Given the description of an element on the screen output the (x, y) to click on. 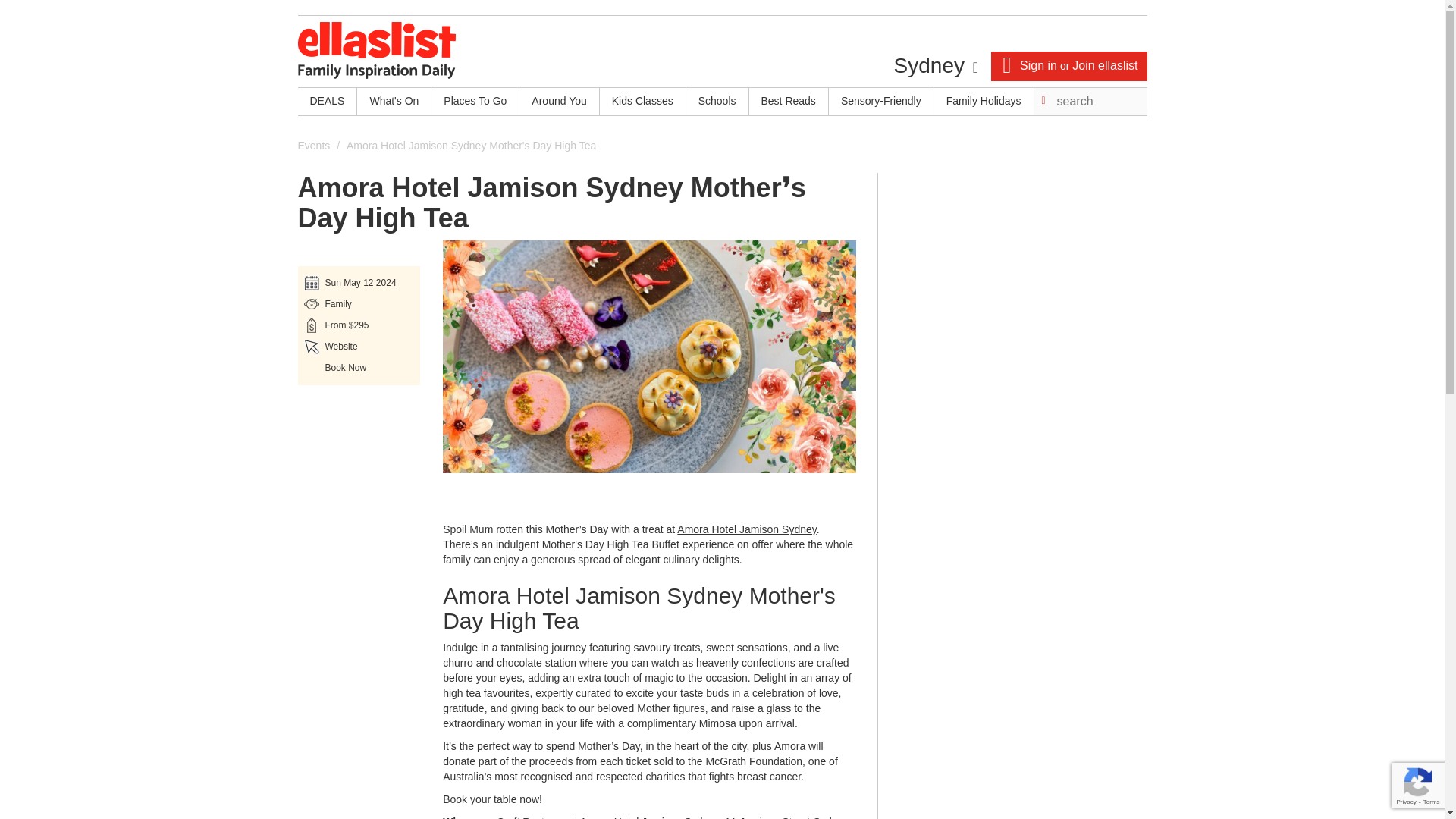
Events (313, 145)
Schools (716, 101)
What's On (393, 101)
Amora Hotel Jamison Sydney (746, 529)
Around You (558, 101)
Website (340, 346)
Family Holidays (983, 101)
Sensory-Friendly (880, 101)
DEALS (326, 101)
Kids Classes (642, 101)
